Given the description of an element on the screen output the (x, y) to click on. 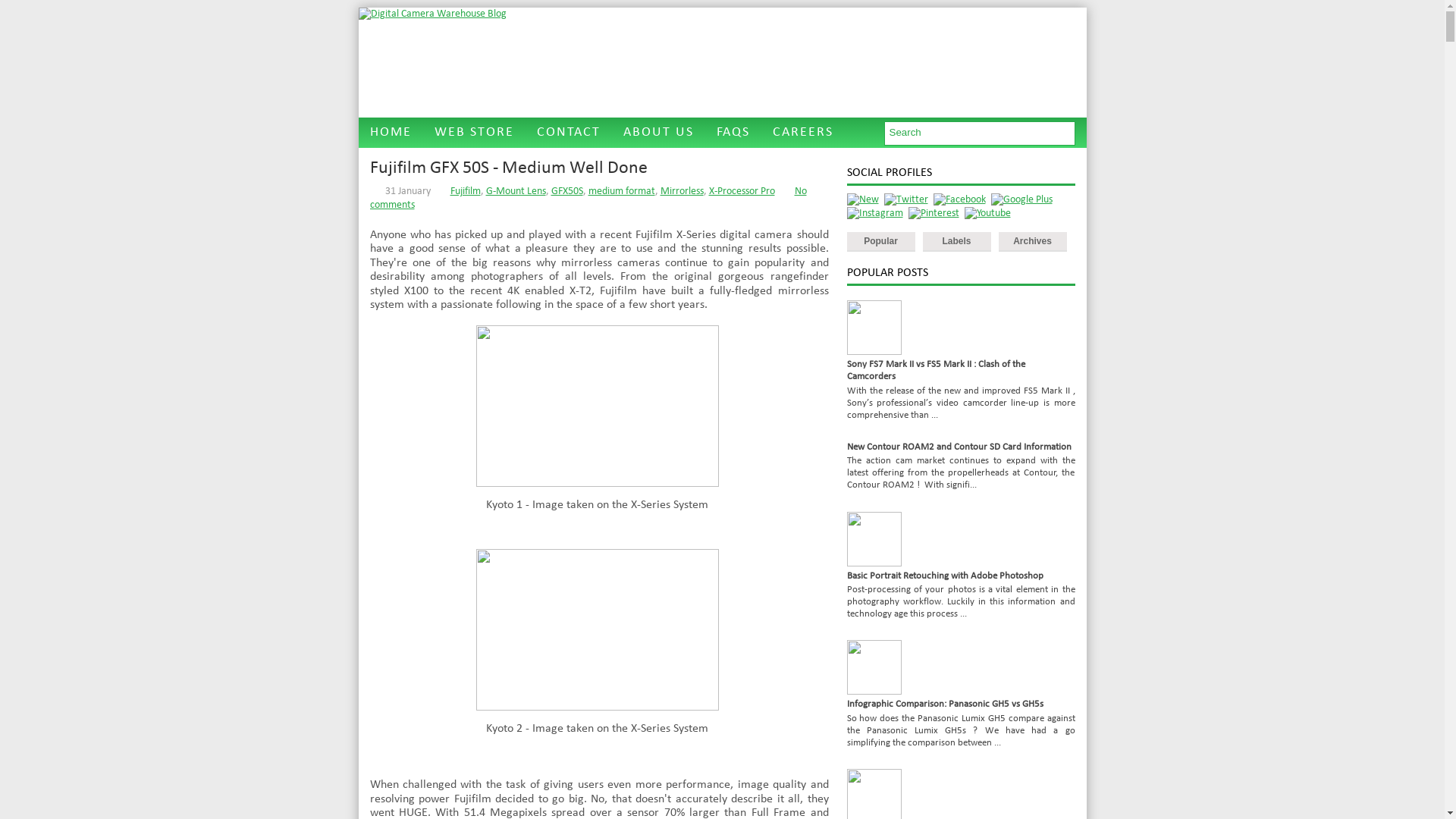
Fujifilm Element type: text (465, 191)
Labels Element type: text (956, 241)
New Contour ROAM2 and Contour SD Card Information Element type: text (958, 446)
GFX50S Element type: text (566, 191)
Mirrorless Element type: text (680, 191)
CONTACT Element type: text (567, 133)
WEB STORE Element type: text (474, 133)
FAQS Element type: text (733, 133)
ABOUT US Element type: text (657, 133)
Youtube Element type: hover (987, 213)
G-Mount Lens Element type: text (515, 191)
New Element type: hover (862, 200)
Infographic Comparison: Panasonic GH5 vs GH5s Element type: text (944, 704)
Facebook Element type: hover (958, 200)
Pinterest Element type: hover (933, 213)
medium format Element type: text (621, 191)
Instagram Element type: hover (874, 213)
Google Plus Element type: hover (1020, 200)
Popular Element type: text (880, 241)
X-Processor Pro Element type: text (741, 191)
Archives Element type: text (1031, 241)
Basic Portrait Retouching with Adobe Photoshop Element type: text (944, 575)
Sony FS7 Mark II vs FS5 Mark II : Clash of the Camcorders Element type: text (935, 370)
Twitter Element type: hover (906, 200)
CAREERS Element type: text (802, 133)
Type and hit enter Element type: hover (979, 133)
No comments Element type: text (588, 197)
HOME Element type: text (389, 133)
